Given the description of an element on the screen output the (x, y) to click on. 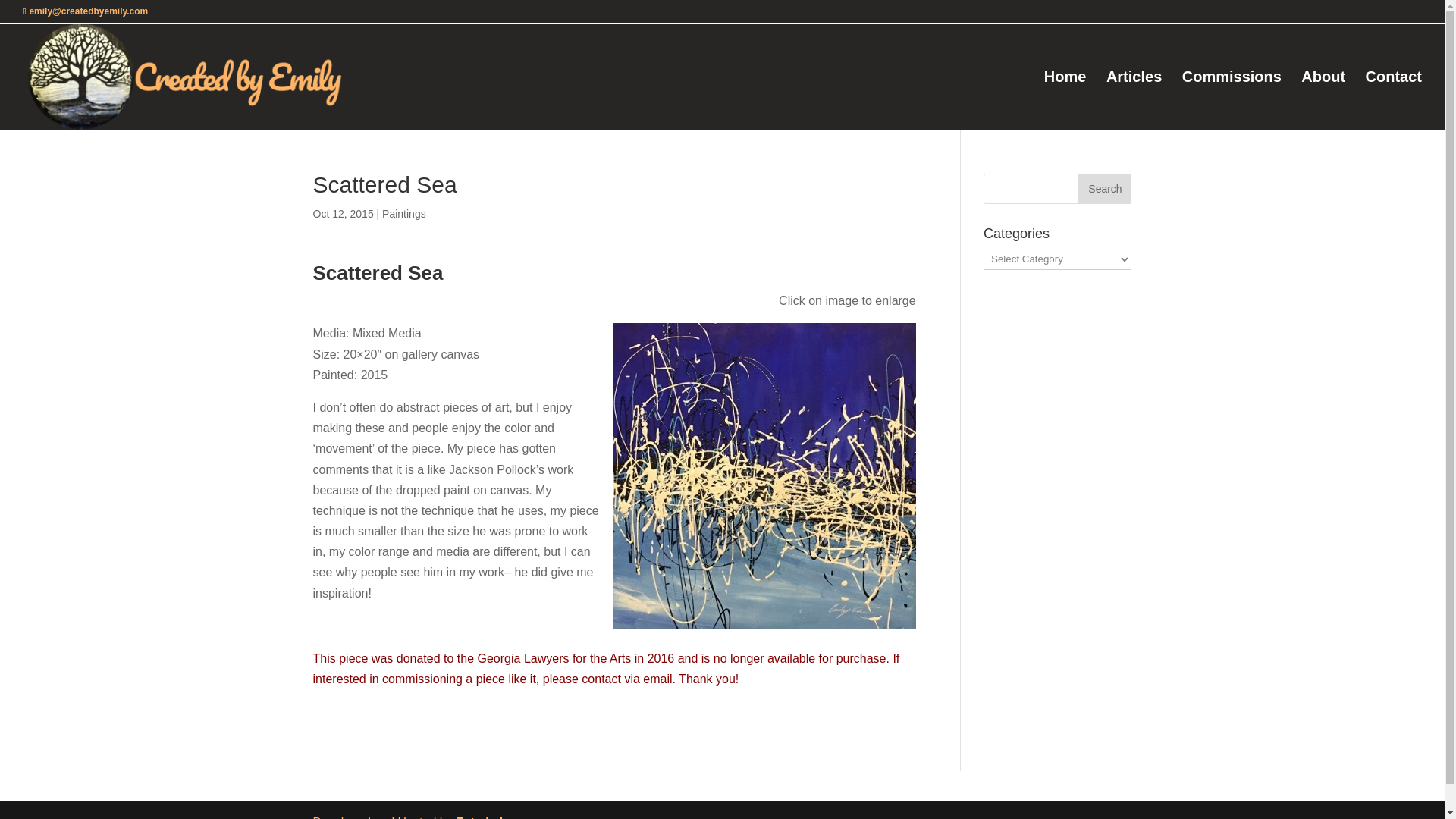
Scatteredseas20x20 (763, 475)
Contact (1393, 100)
Zoto Labs (484, 817)
Search (1104, 188)
Paintings (403, 214)
Commissions (1231, 100)
Articles (1133, 100)
Search (1104, 188)
